Given the description of an element on the screen output the (x, y) to click on. 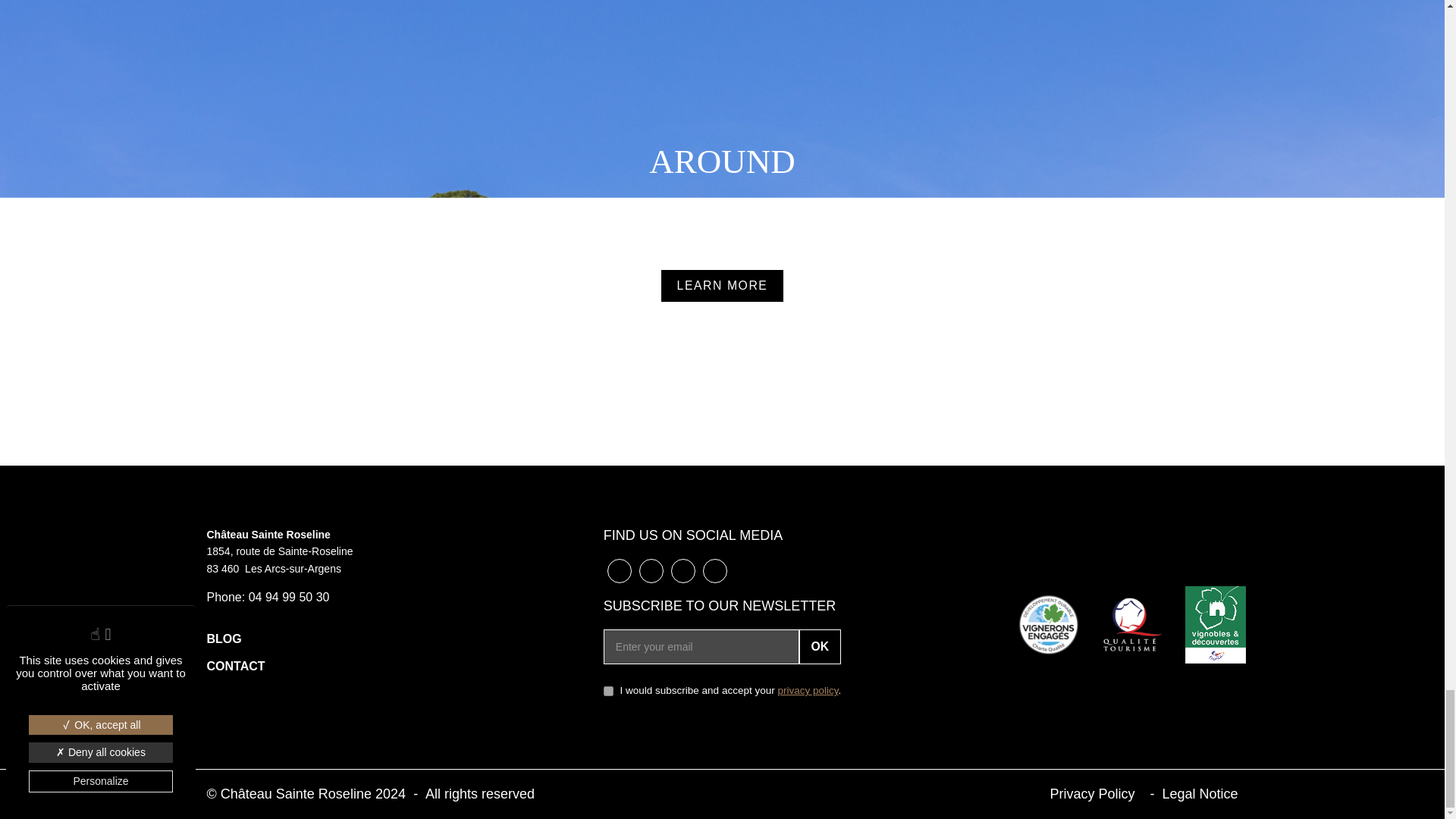
privacy policy (807, 690)
OK (820, 646)
Privacy Policy (1091, 793)
Phone: 04 94 99 50 30 (267, 596)
Suivez-nous sur Facebook (619, 570)
LEARN MORE (722, 286)
CONTACT (235, 666)
OK (820, 646)
Legal Notice (1199, 793)
BLOG (223, 638)
Retrouvez-nous sur LinkedIn (651, 570)
